Given the description of an element on the screen output the (x, y) to click on. 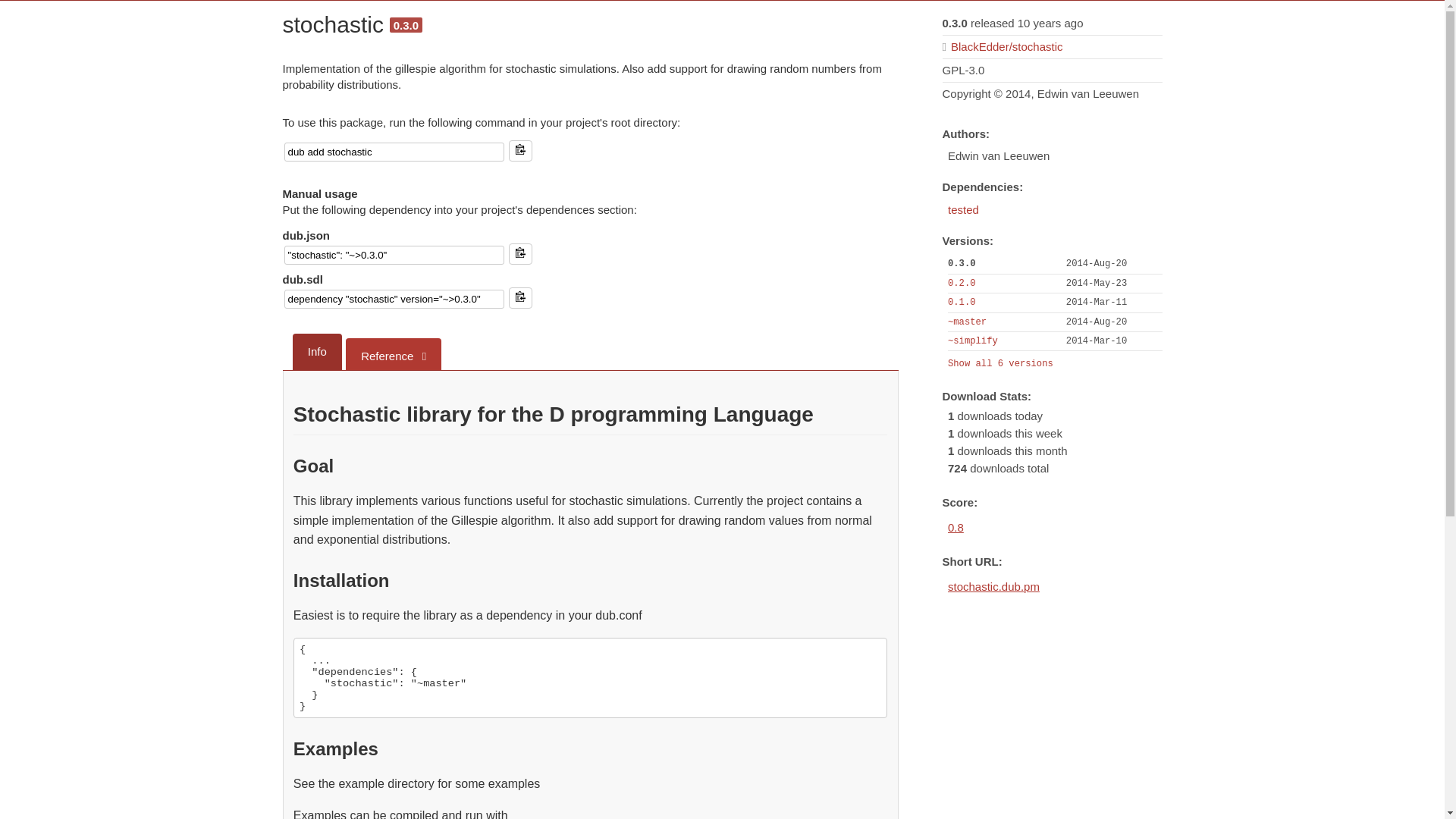
Reference (393, 354)
dub add stochastic (393, 151)
tested (962, 209)
Show all 6 versions (999, 363)
Info (317, 351)
0.2.0 (961, 283)
stochastic.dub.pm (993, 585)
0.1.0 (961, 302)
0.8 (955, 526)
